Given the description of an element on the screen output the (x, y) to click on. 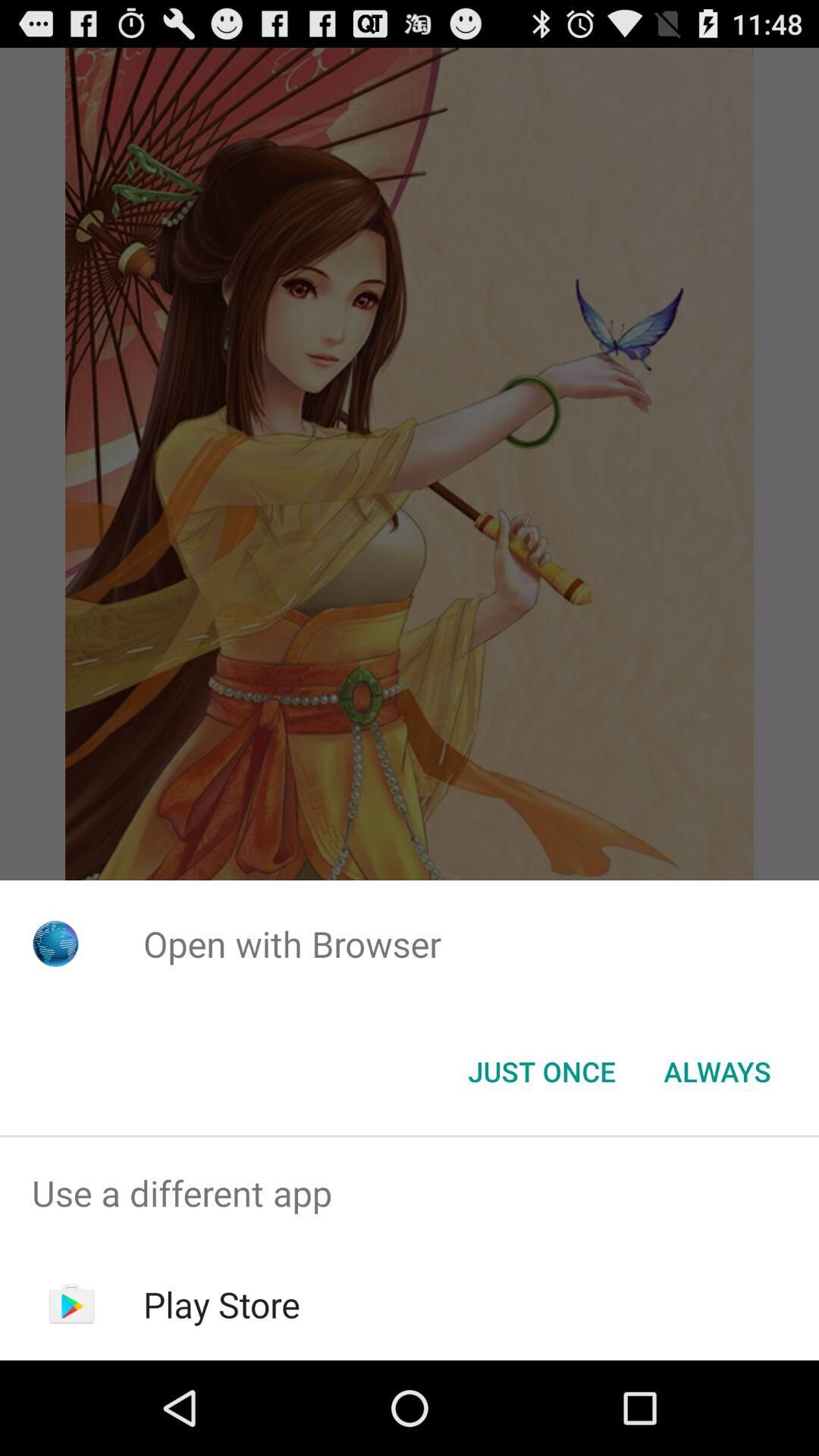
press the item above the play store app (409, 1192)
